Given the description of an element on the screen output the (x, y) to click on. 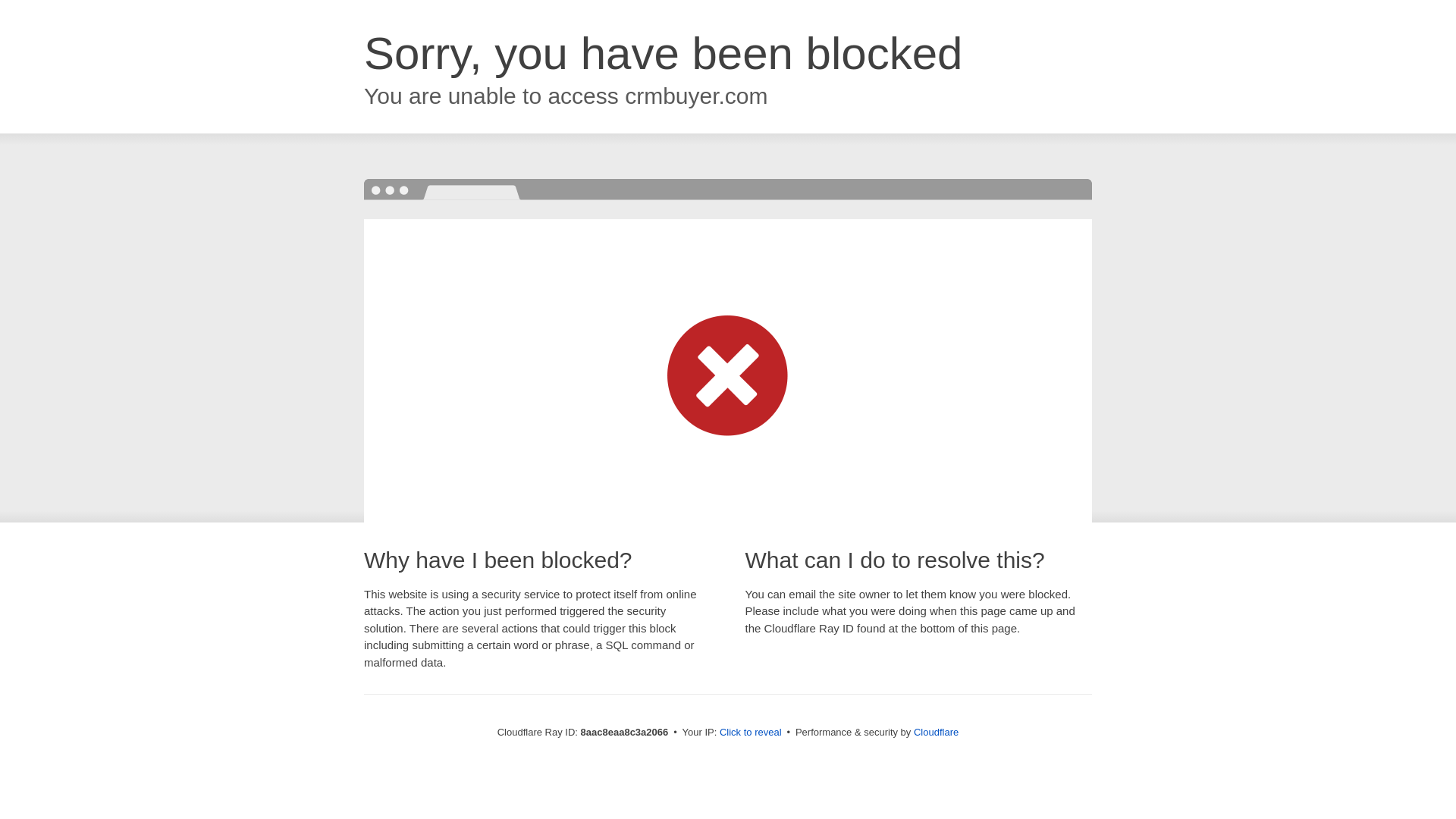
Click to reveal (750, 732)
Cloudflare (936, 731)
